Given the description of an element on the screen output the (x, y) to click on. 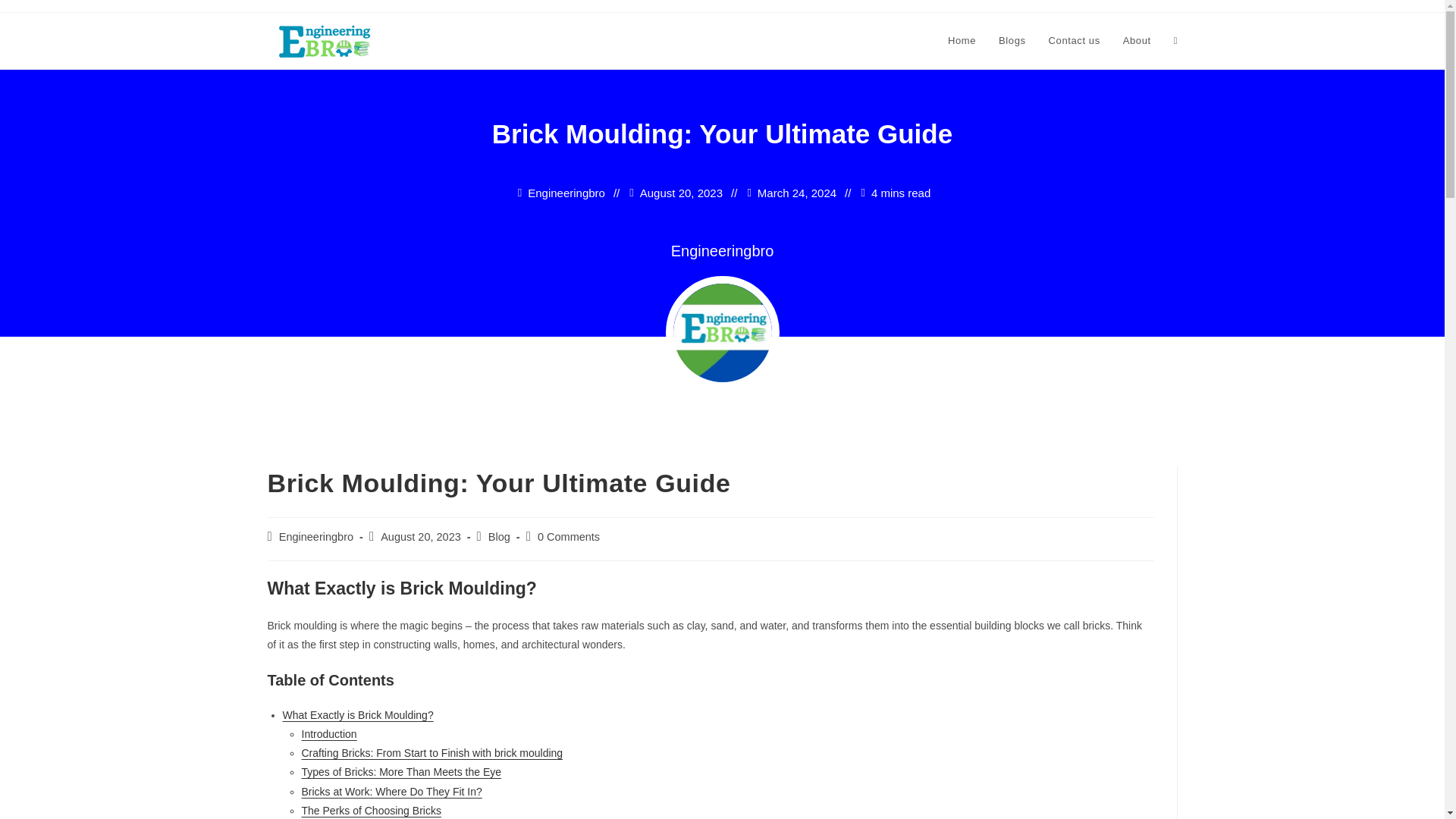
Posts by Engineeringbro (316, 536)
Blog (499, 536)
What Exactly is Brick Moulding? (357, 715)
Engineeringbro (316, 536)
Blogs (1011, 40)
The Perks of Choosing Bricks (371, 810)
Engineeringbro (722, 250)
Home (961, 40)
0 Comments (568, 536)
About (1136, 40)
Bricks at Work: Where Do They Fit In? (391, 791)
Types of Bricks: More Than Meets the Eye (401, 771)
Crafting Bricks: From Start to Finish with brick moulding (432, 752)
Introduction (328, 734)
Engineeringbro (566, 192)
